Given the description of an element on the screen output the (x, y) to click on. 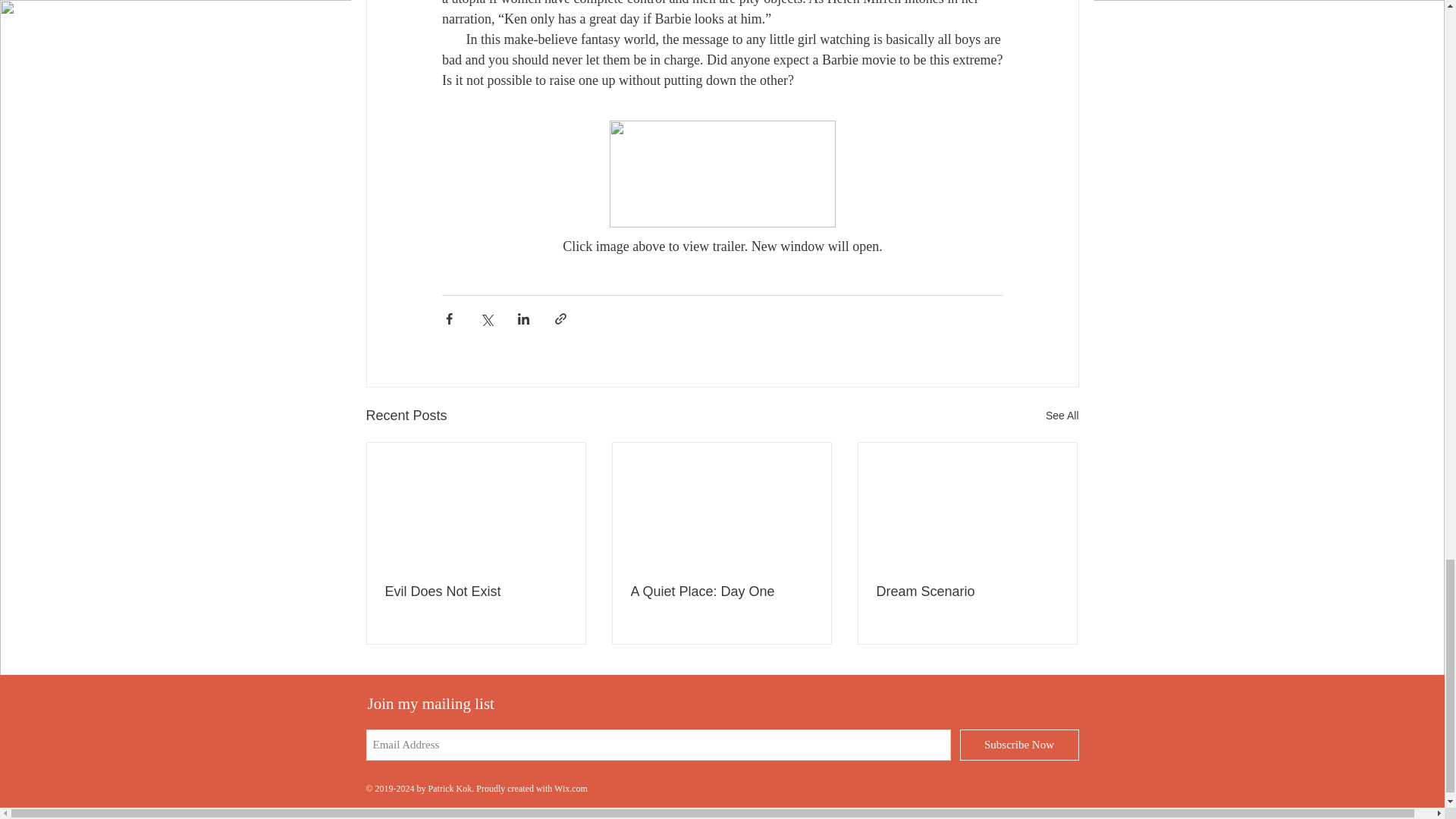
Evil Does Not Exist (476, 591)
A Quiet Place: Day One (721, 591)
Wix.com (571, 787)
Subscribe Now (1018, 744)
Dream Scenario (967, 591)
See All (1061, 415)
